Given the description of an element on the screen output the (x, y) to click on. 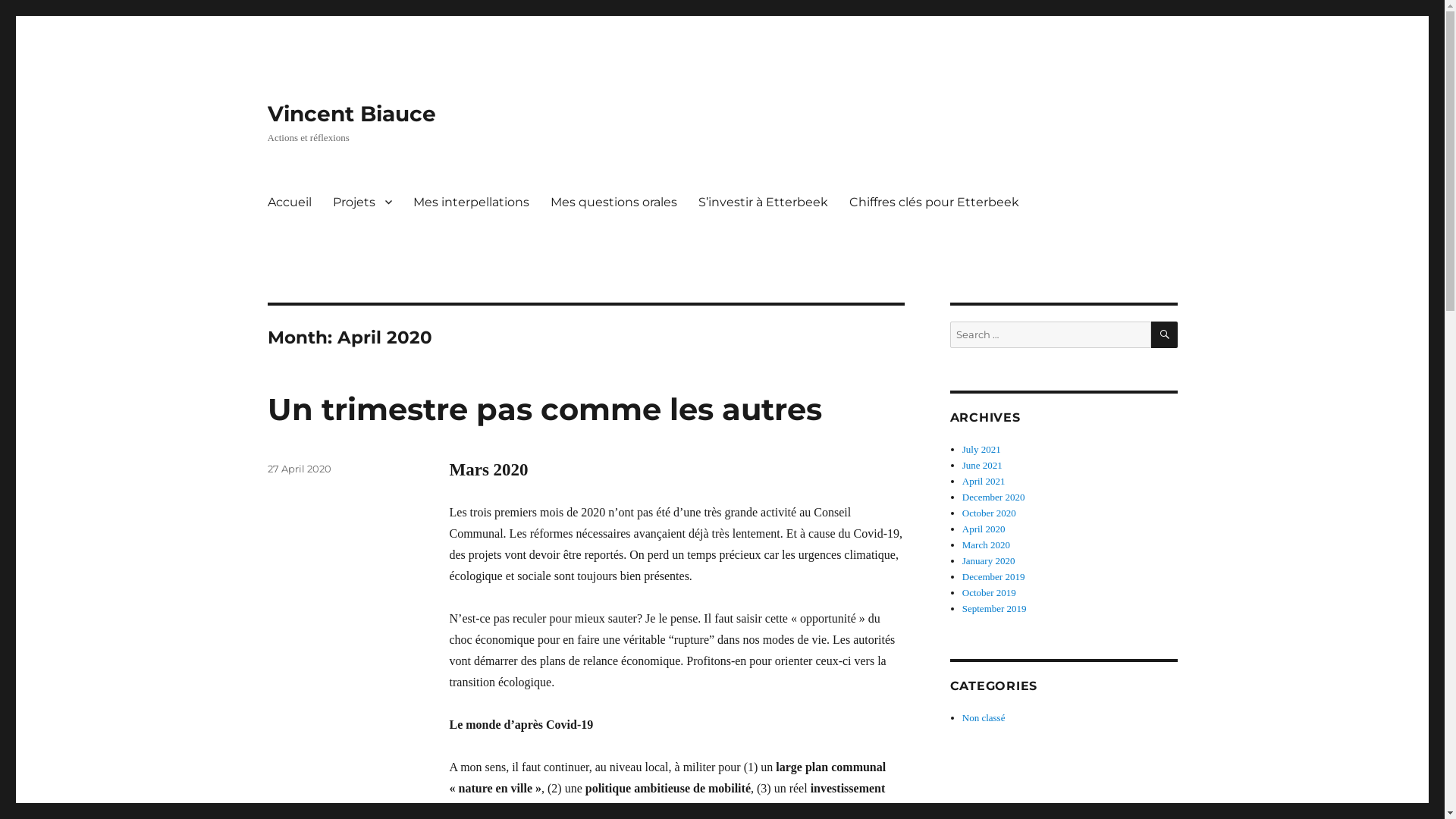
October 2020 Element type: text (989, 512)
Projets Element type: text (361, 201)
27 April 2020 Element type: text (298, 468)
July 2021 Element type: text (981, 449)
Mes interpellations Element type: text (470, 201)
January 2020 Element type: text (988, 560)
December 2019 Element type: text (993, 576)
April 2020 Element type: text (983, 528)
December 2020 Element type: text (993, 496)
April 2021 Element type: text (983, 480)
Vincent Biauce Element type: text (350, 113)
Un trimestre pas comme les autres Element type: text (543, 408)
June 2021 Element type: text (982, 464)
Mes questions orales Element type: text (613, 201)
October 2019 Element type: text (989, 592)
Accueil Element type: text (288, 201)
September 2019 Element type: text (994, 608)
March 2020 Element type: text (986, 544)
SEARCH Element type: text (1164, 334)
